Given the description of an element on the screen output the (x, y) to click on. 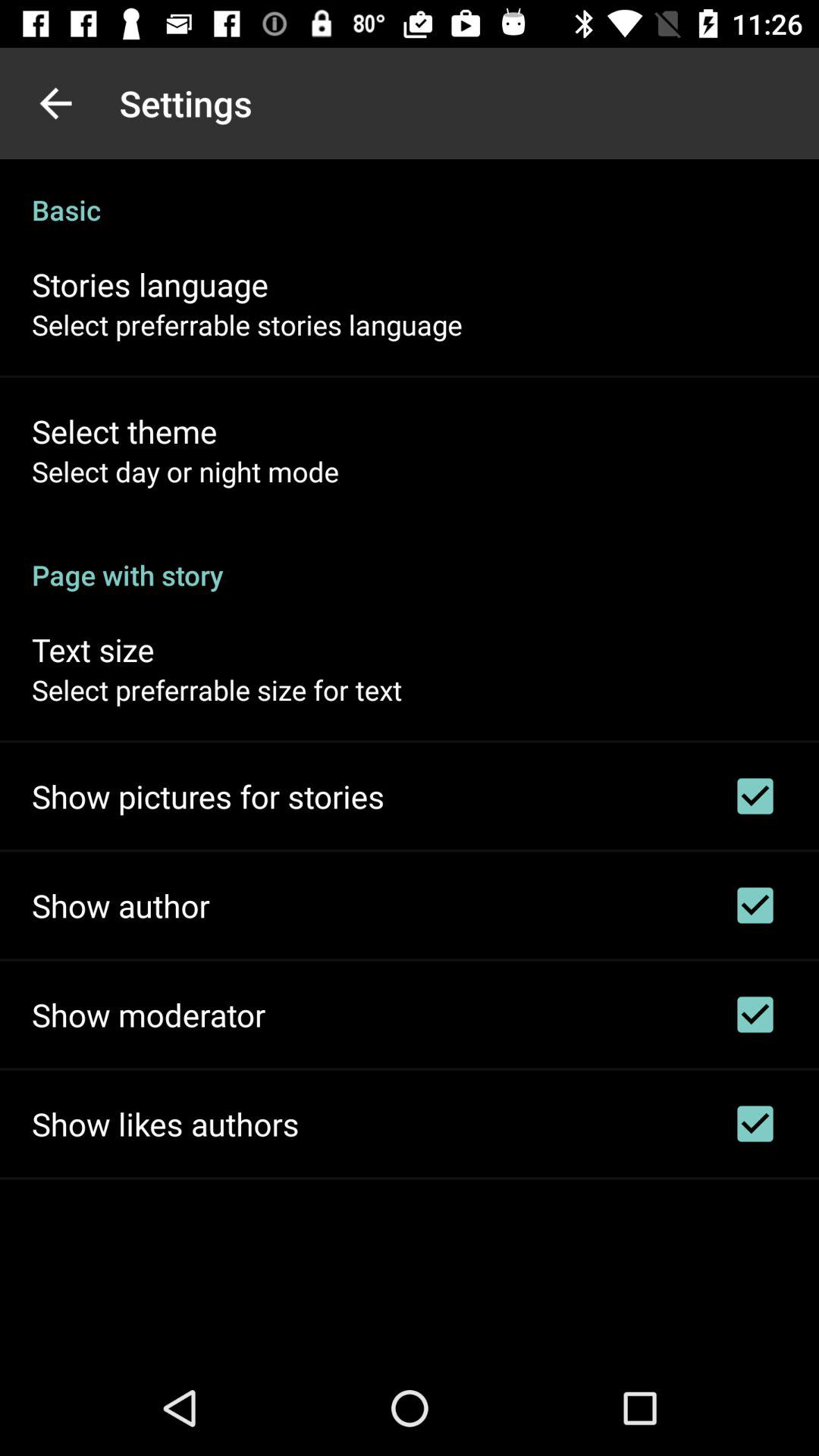
scroll to select day or (184, 471)
